Given the description of an element on the screen output the (x, y) to click on. 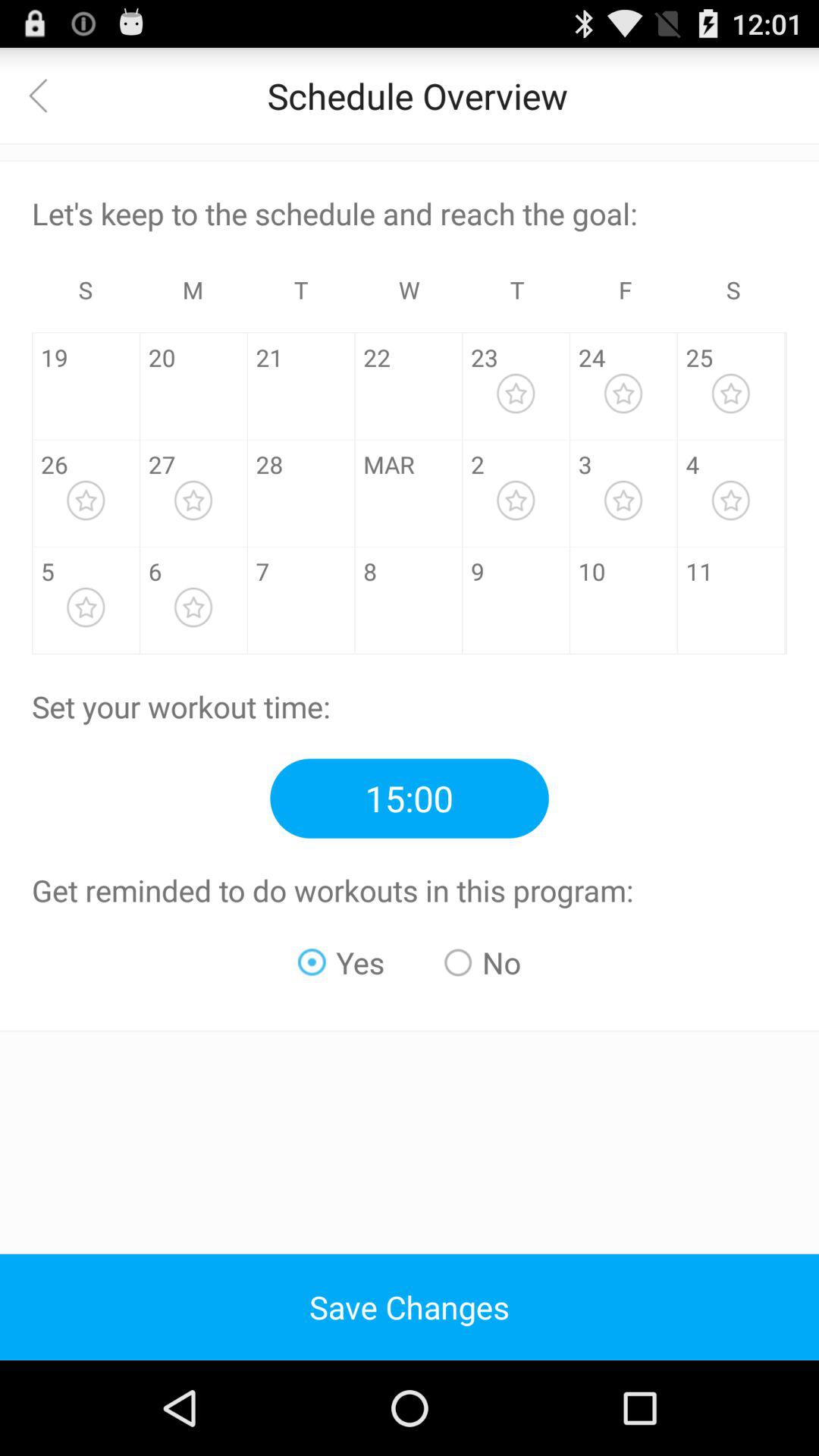
turn off the radio button next to yes radio button (482, 962)
